Given the description of an element on the screen output the (x, y) to click on. 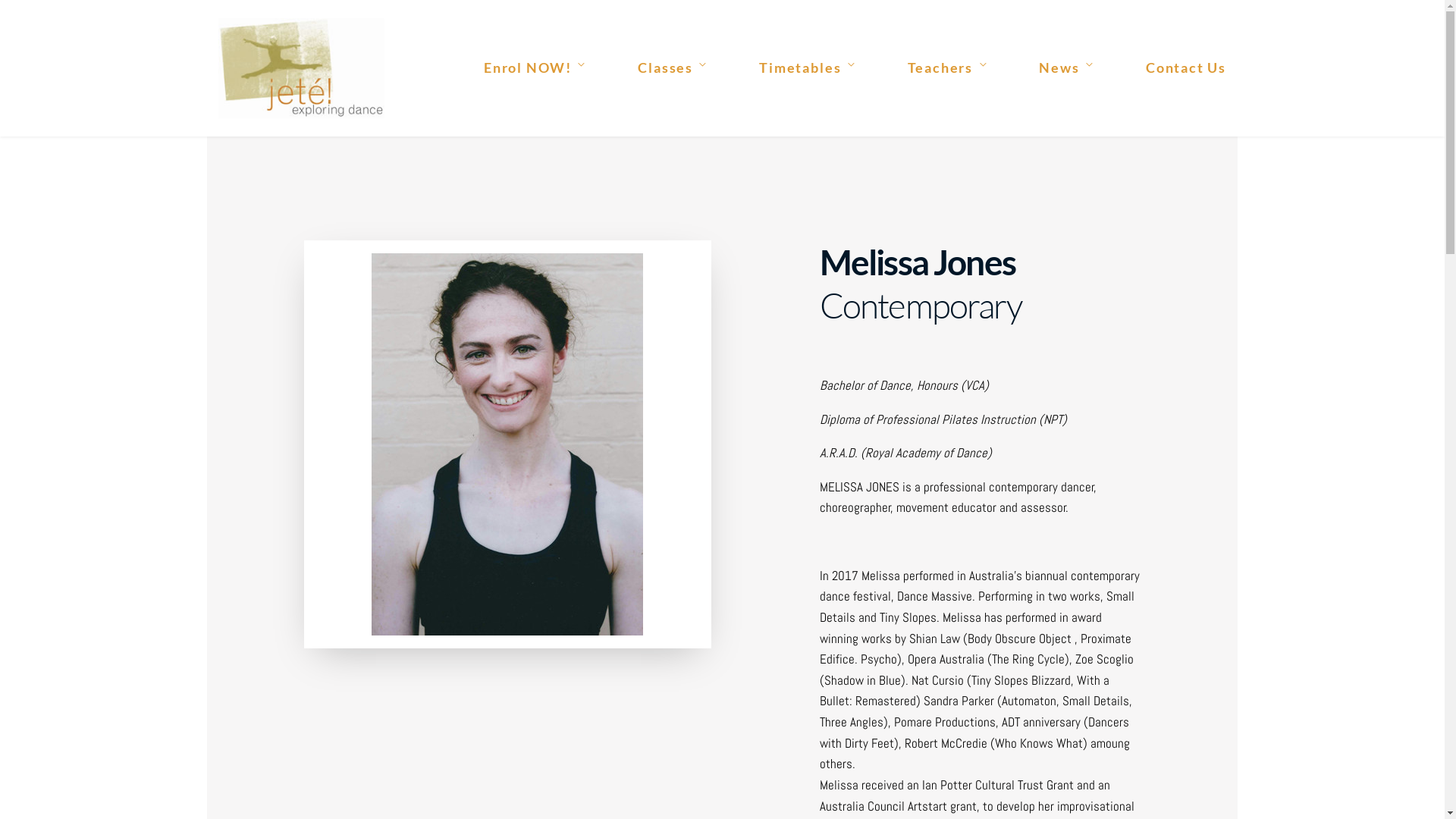
Enrol NOW! Element type: text (534, 67)
Timetables Element type: text (807, 67)
Classes Element type: text (672, 67)
Contact Us Element type: text (1185, 67)
Teachers Element type: text (947, 67)
News Element type: text (1066, 67)
